Given the description of an element on the screen output the (x, y) to click on. 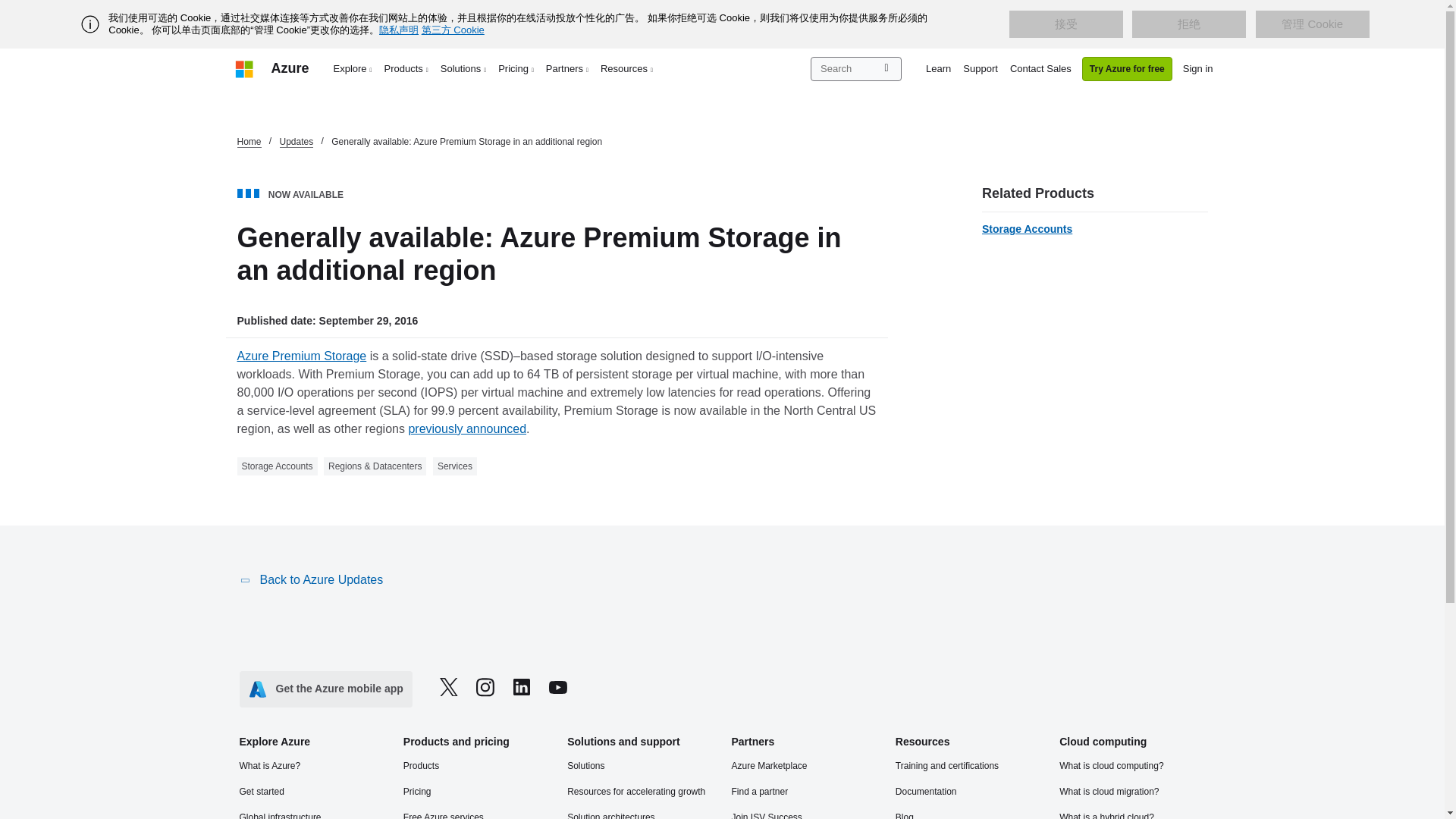
Explore (352, 68)
Azure (289, 68)
Skip to main content (7, 7)
Products (405, 68)
